Given the description of an element on the screen output the (x, y) to click on. 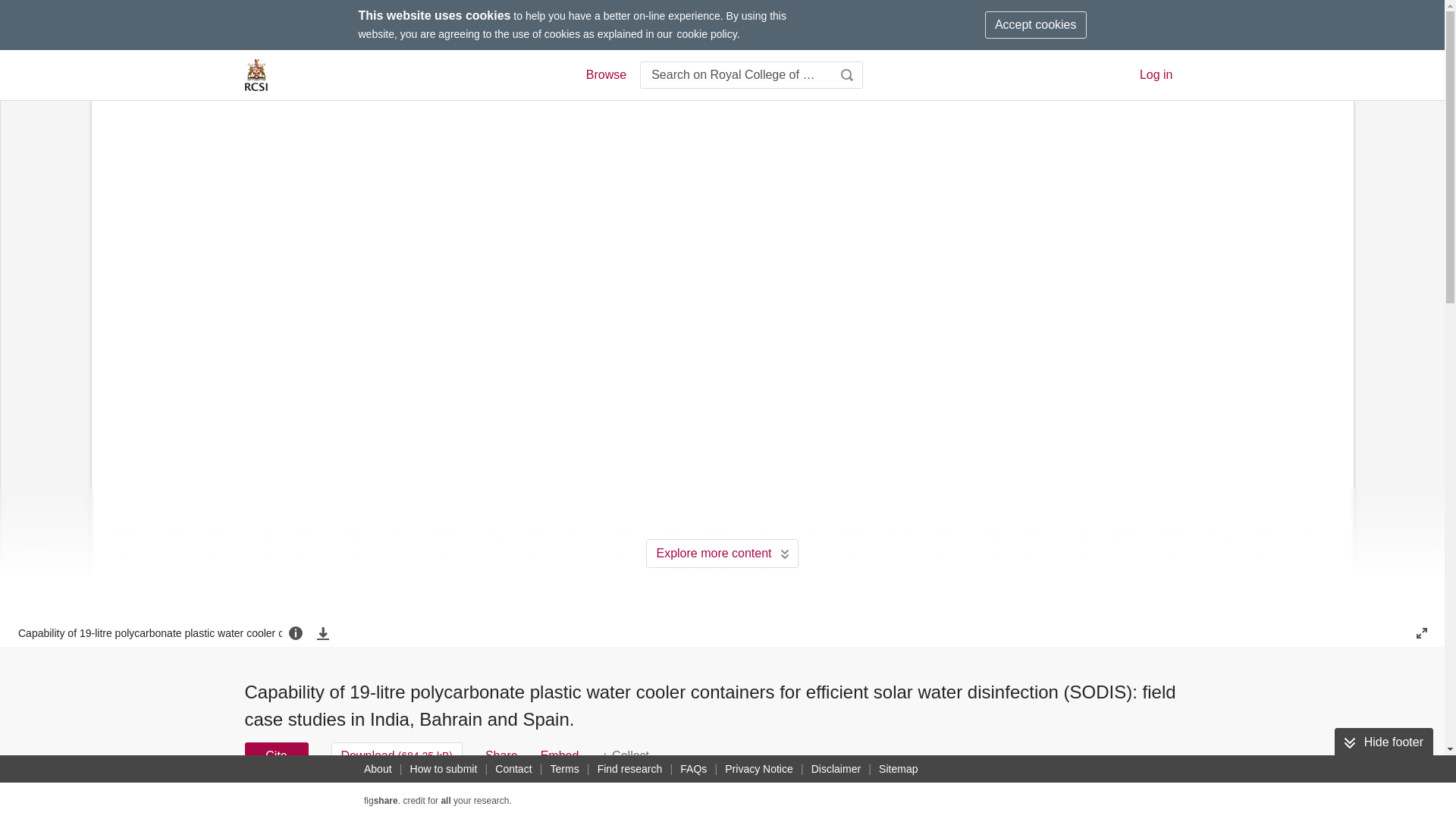
Cite (275, 755)
Explore more content (721, 553)
Share (501, 755)
Embed (559, 755)
Log in (1156, 74)
you need to log in first (625, 755)
cookie policy (706, 33)
Browse (605, 75)
Accept cookies (1035, 24)
